Given the description of an element on the screen output the (x, y) to click on. 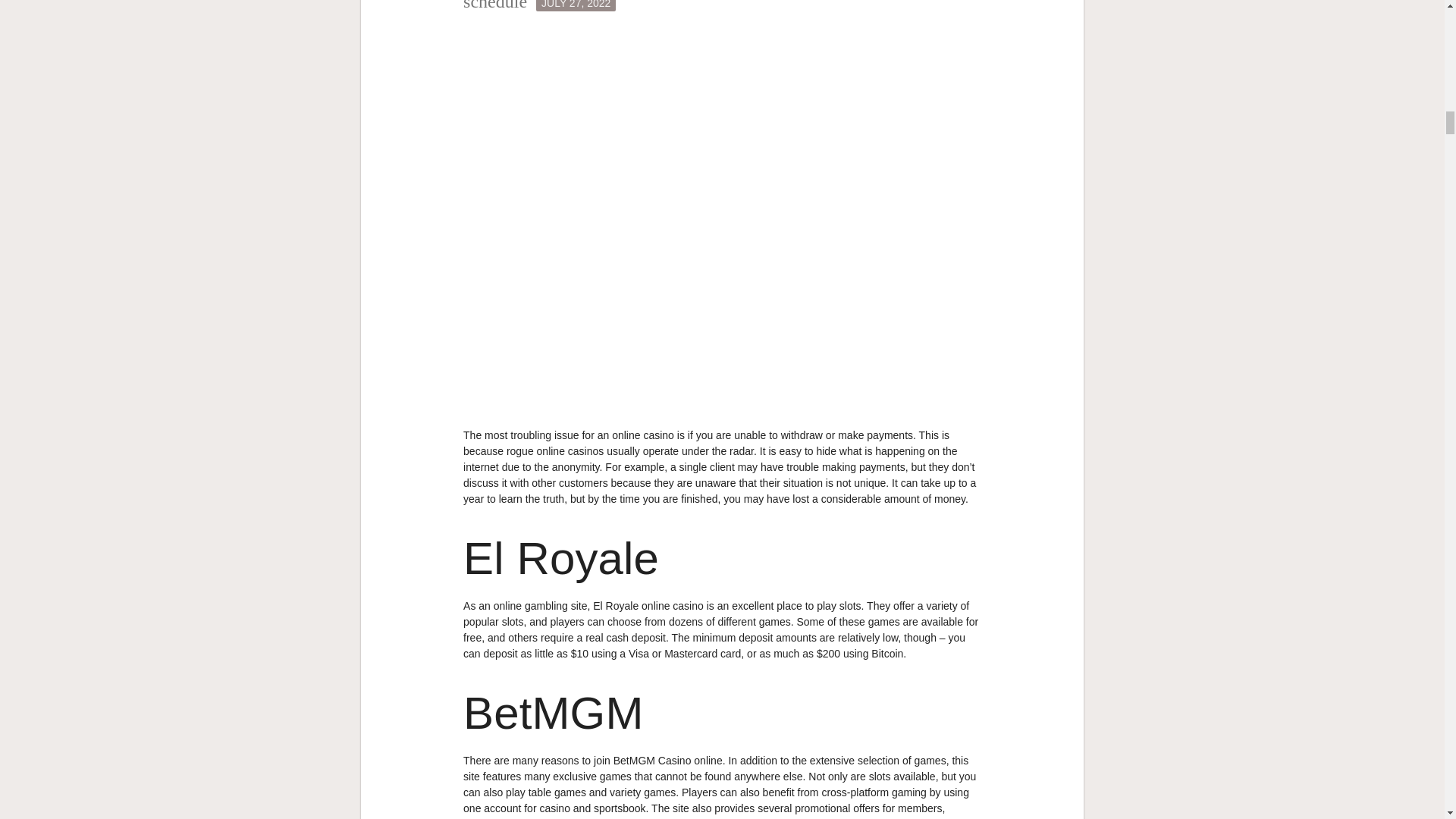
JULY 27, 2022 (575, 5)
